Given the description of an element on the screen output the (x, y) to click on. 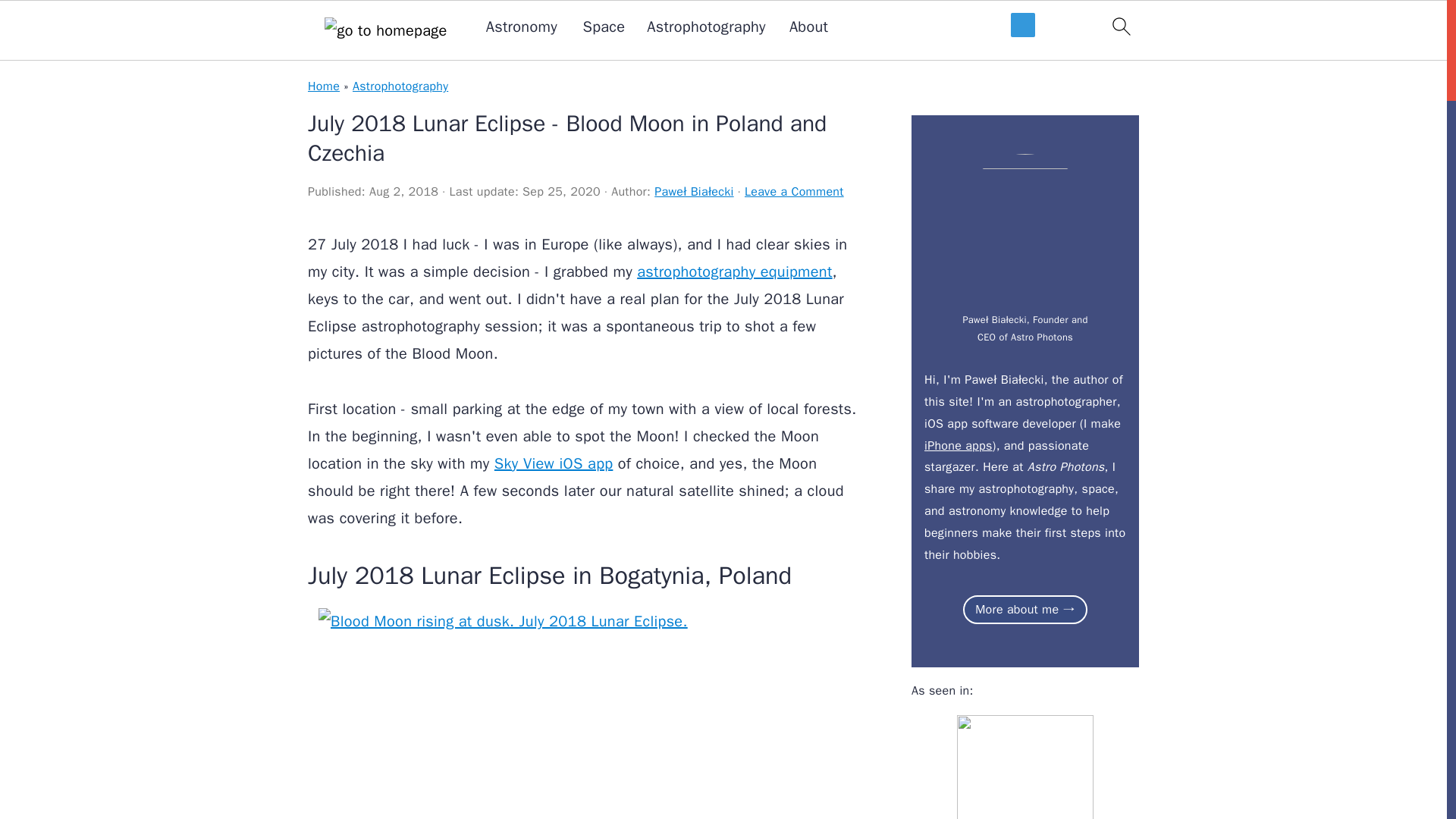
Sky View iOS app (553, 463)
Space (603, 26)
search icon (1121, 26)
astrophotography equipment (734, 271)
Astronomy (521, 26)
Home (323, 86)
Leave a Comment (794, 191)
Astrophotography (705, 26)
Astrophotography (400, 86)
search icon (1121, 30)
About (808, 26)
